Given the description of an element on the screen output the (x, y) to click on. 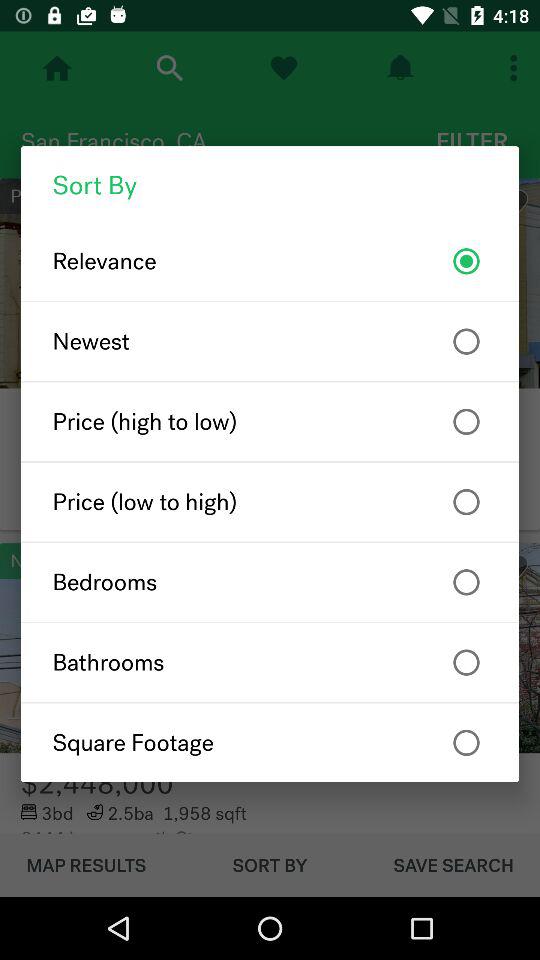
press relevance icon (270, 261)
